Given the description of an element on the screen output the (x, y) to click on. 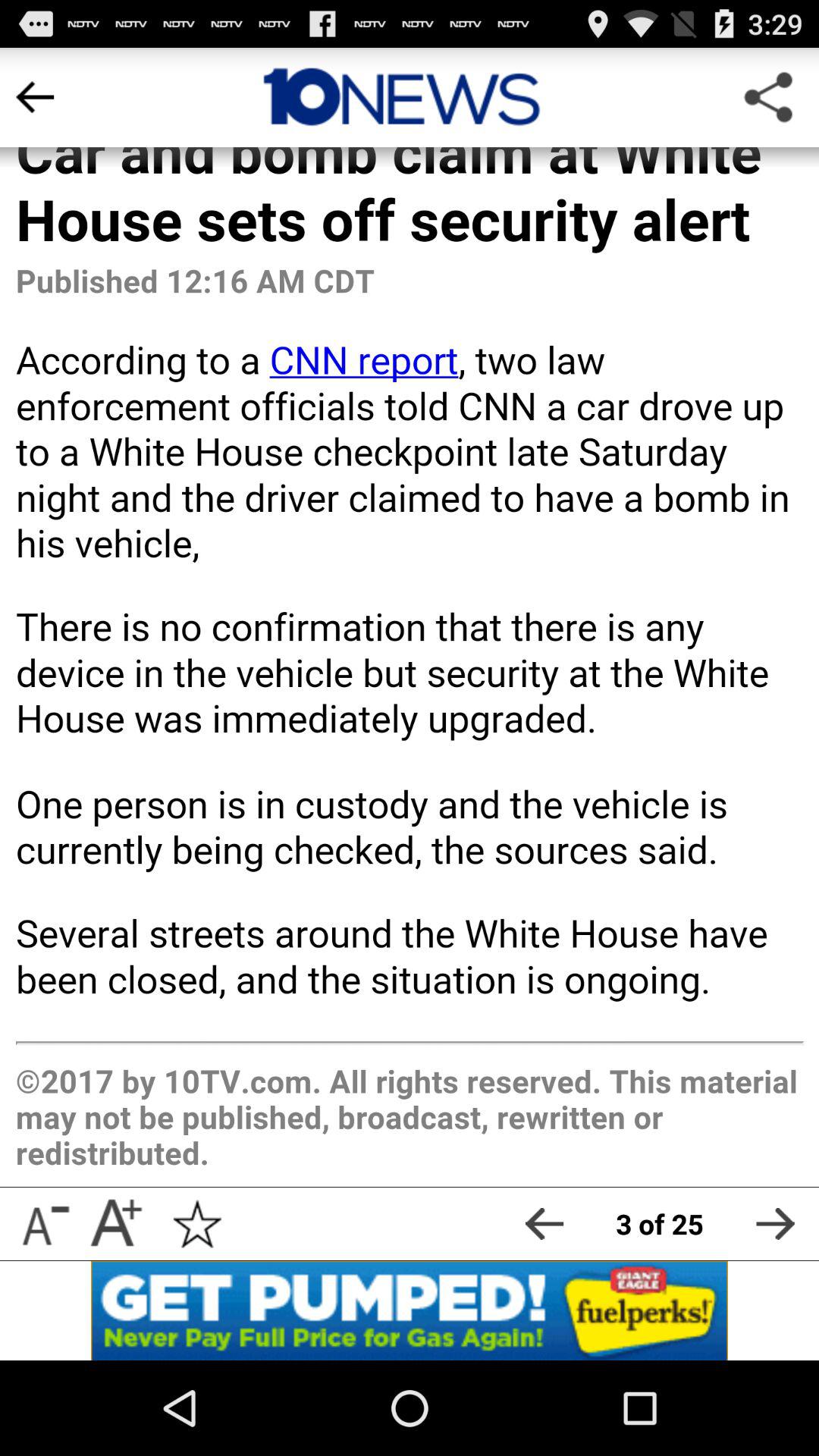
go back (544, 1223)
